Given the description of an element on the screen output the (x, y) to click on. 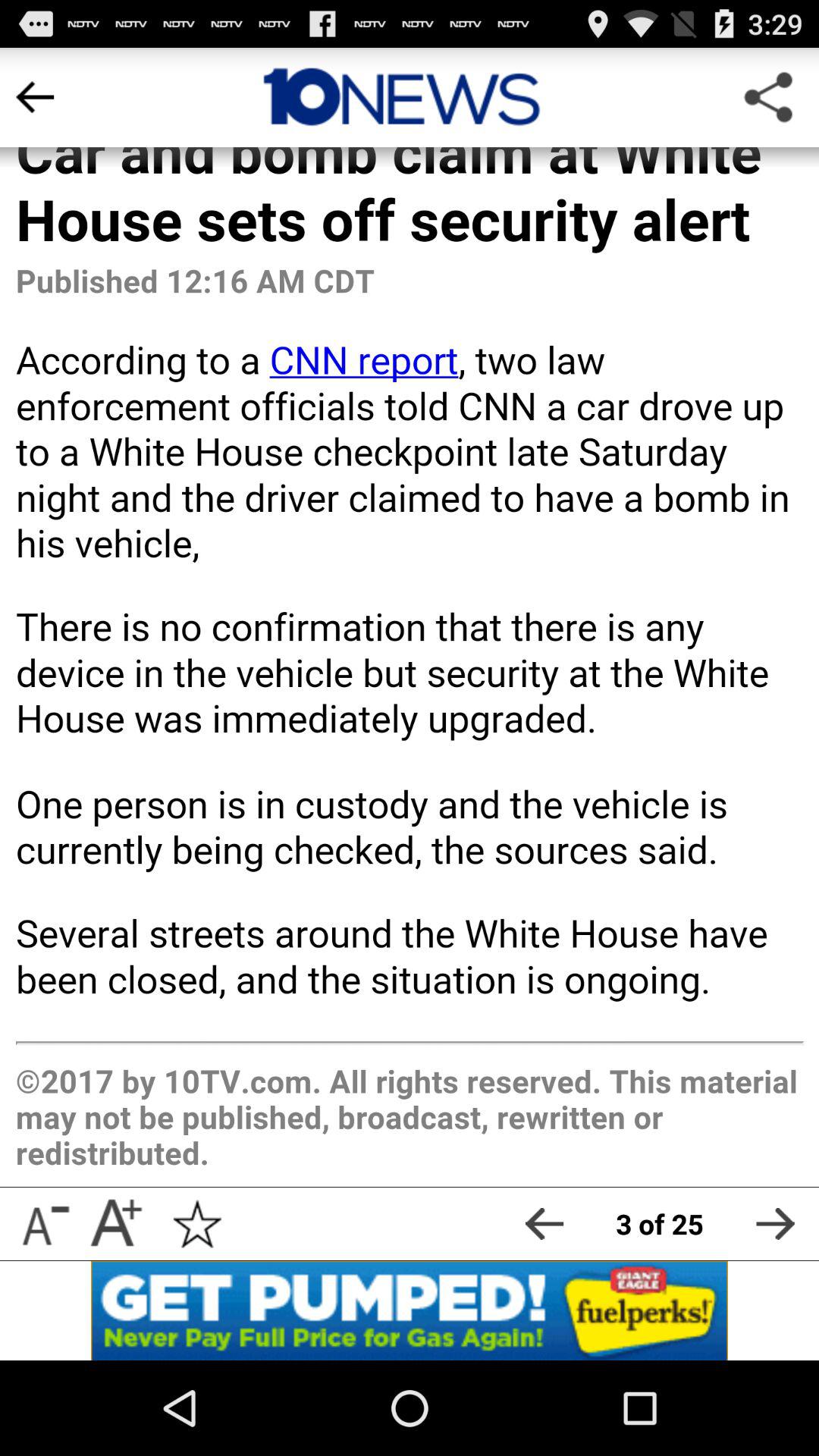
go back (544, 1223)
